Given the description of an element on the screen output the (x, y) to click on. 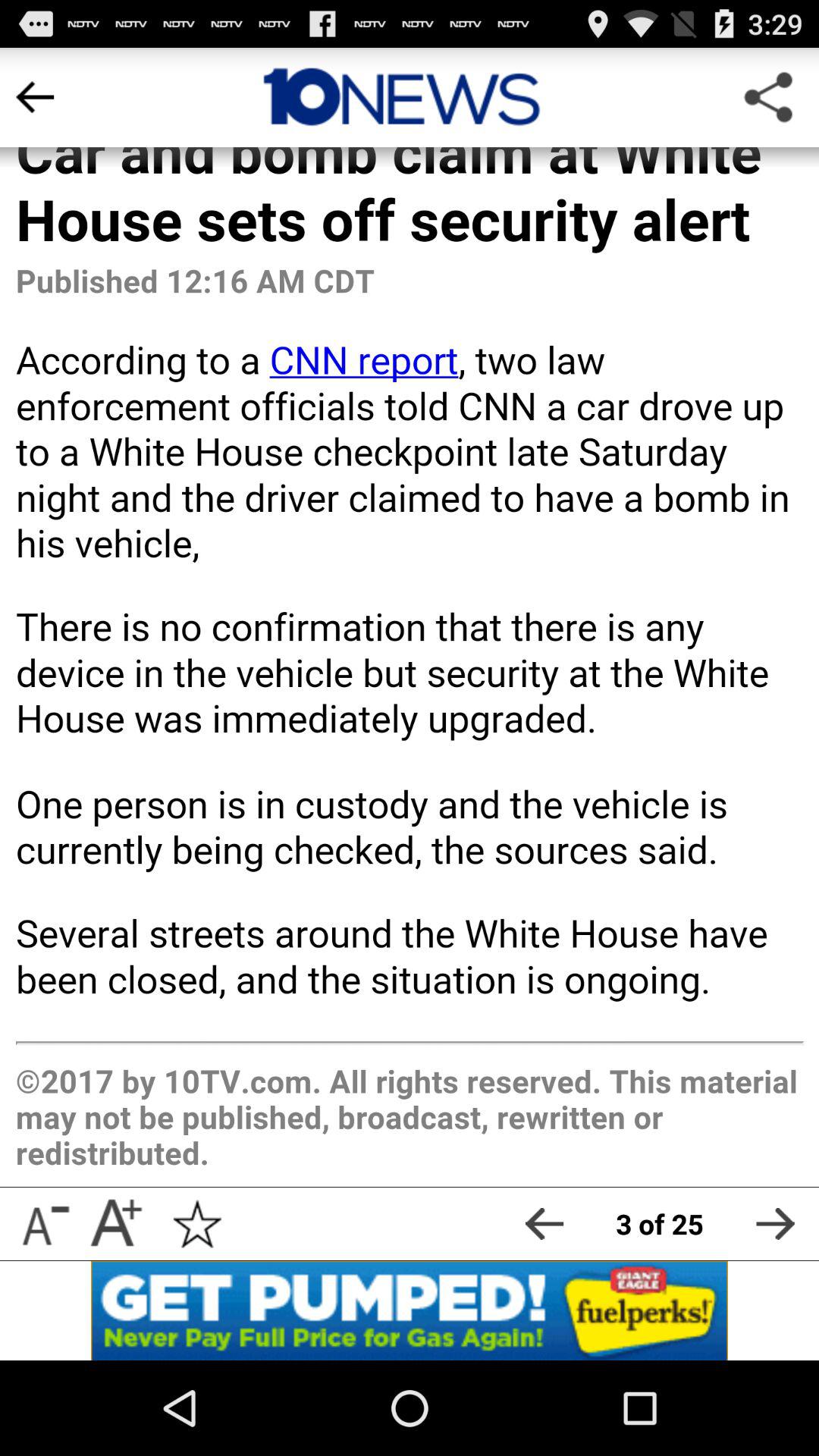
go back (544, 1223)
